Given the description of an element on the screen output the (x, y) to click on. 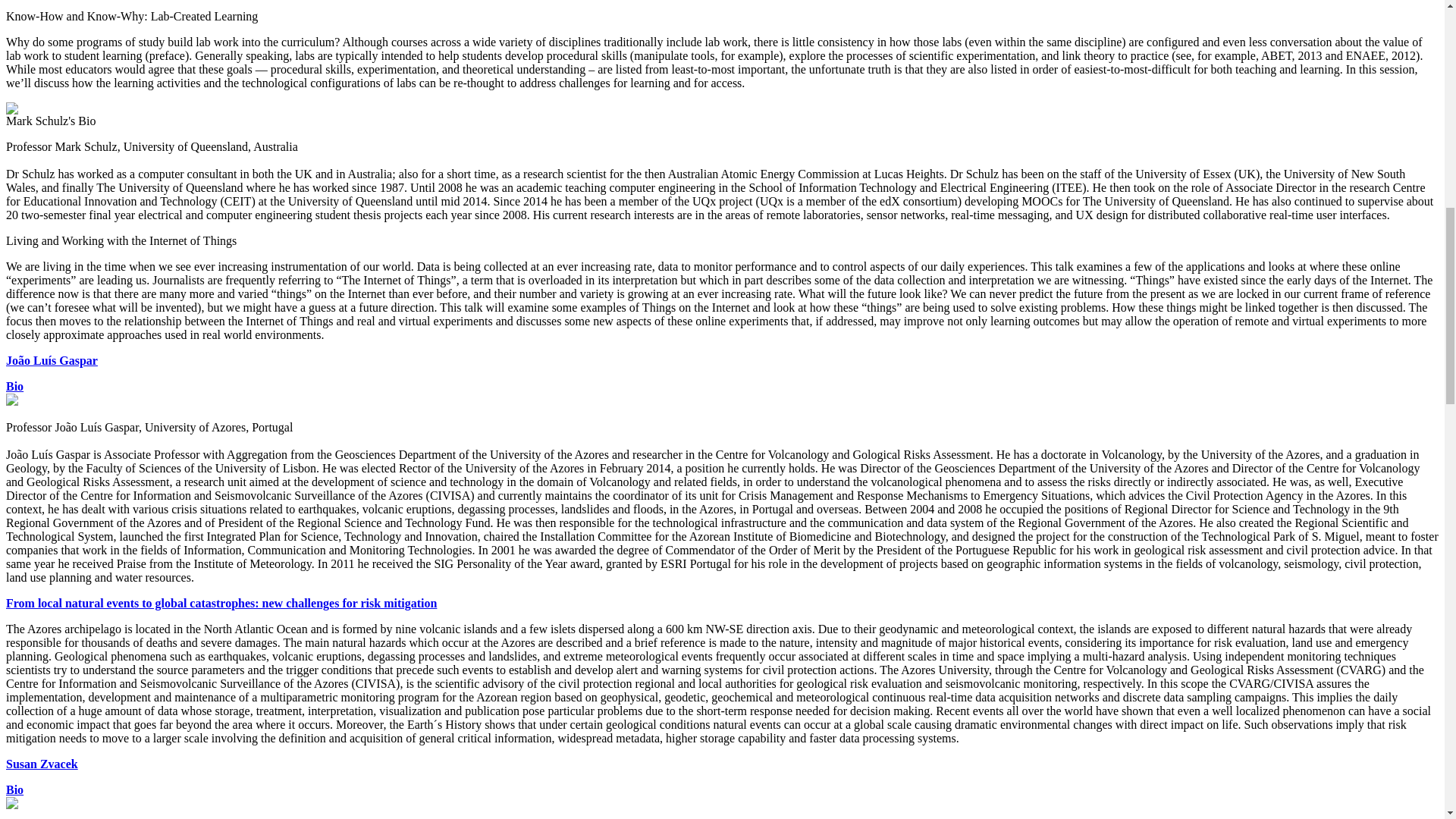
Bio (14, 386)
Bio (14, 789)
